Given the description of an element on the screen output the (x, y) to click on. 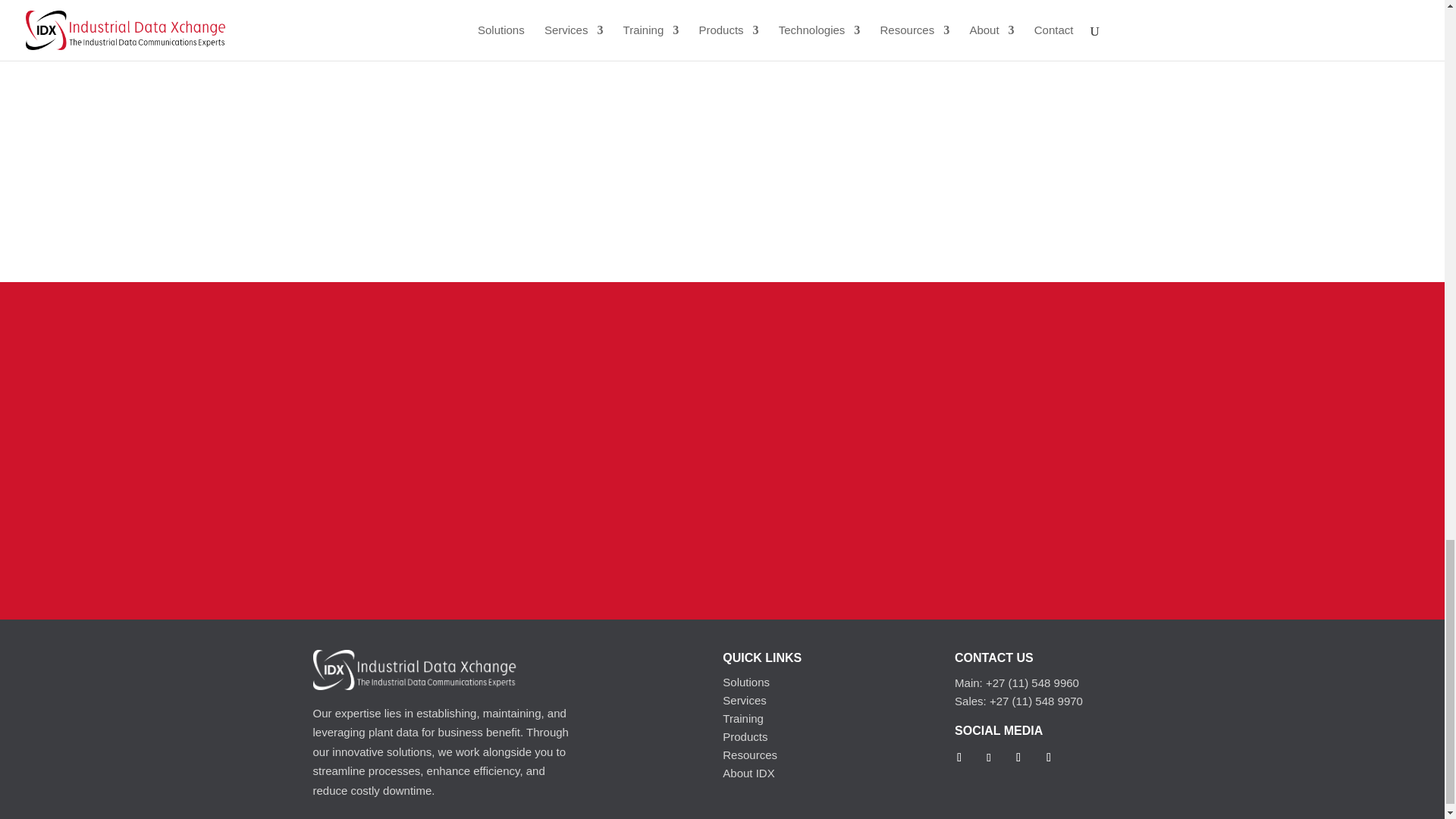
Follow on Youtube (1048, 757)
Follow on Twitter (1018, 757)
Follow on Facebook (959, 757)
Follow on LinkedIn (988, 757)
